Given the description of an element on the screen output the (x, y) to click on. 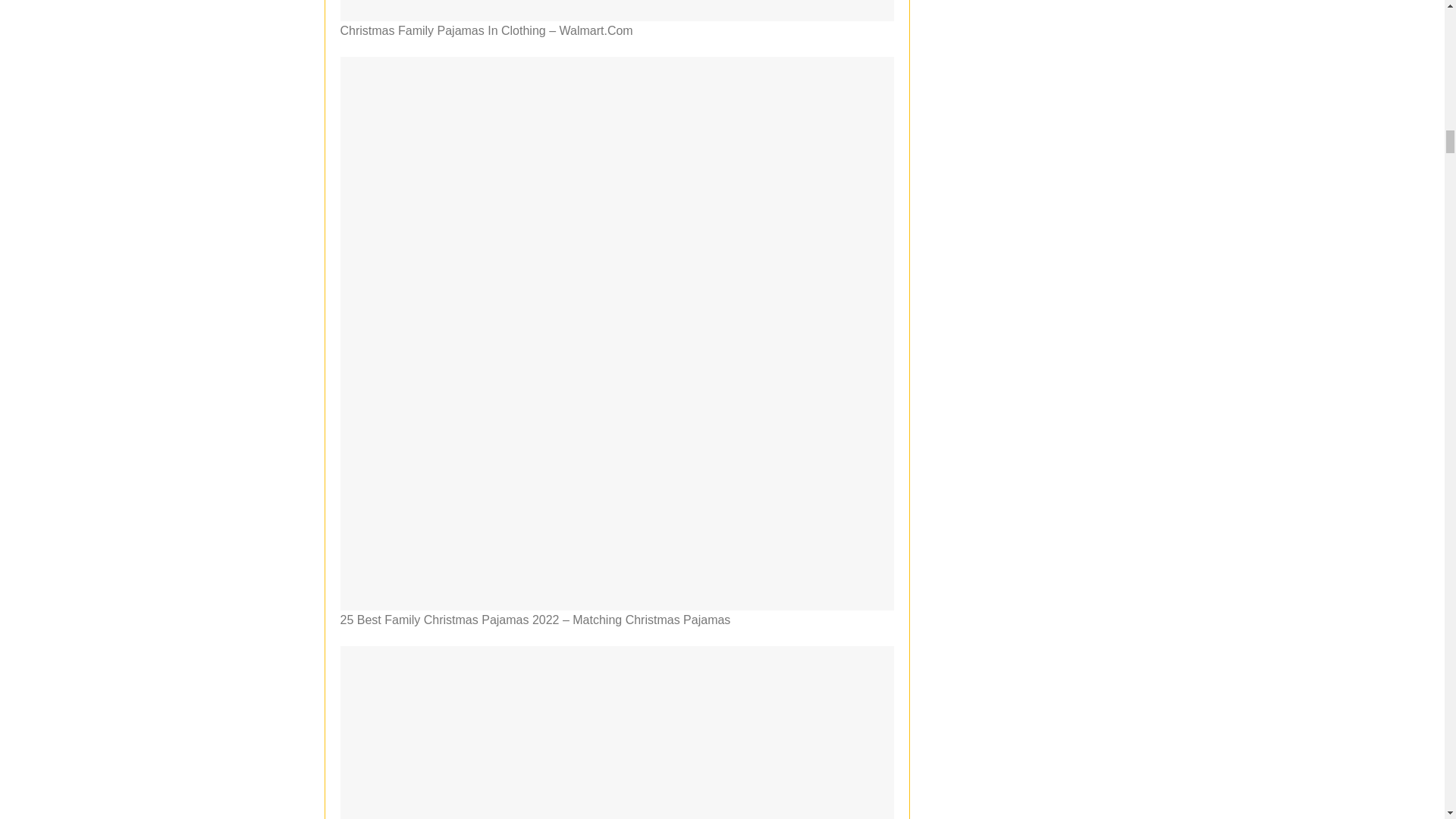
Christmas Family Pajamas in Clothing - Walmart.com (616, 11)
